Given the description of an element on the screen output the (x, y) to click on. 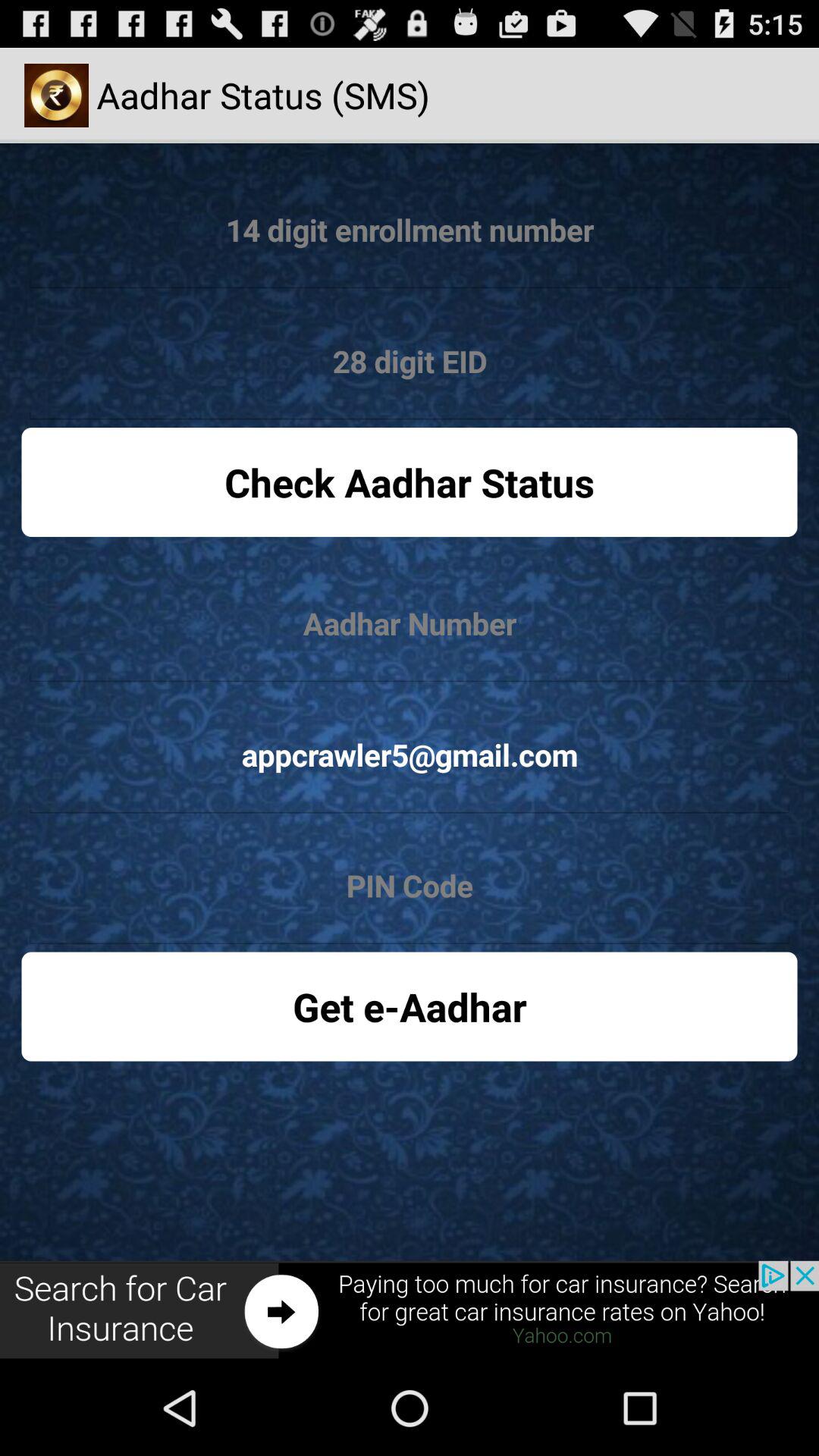
14 digit enrollment number icon (409, 230)
